Given the description of an element on the screen output the (x, y) to click on. 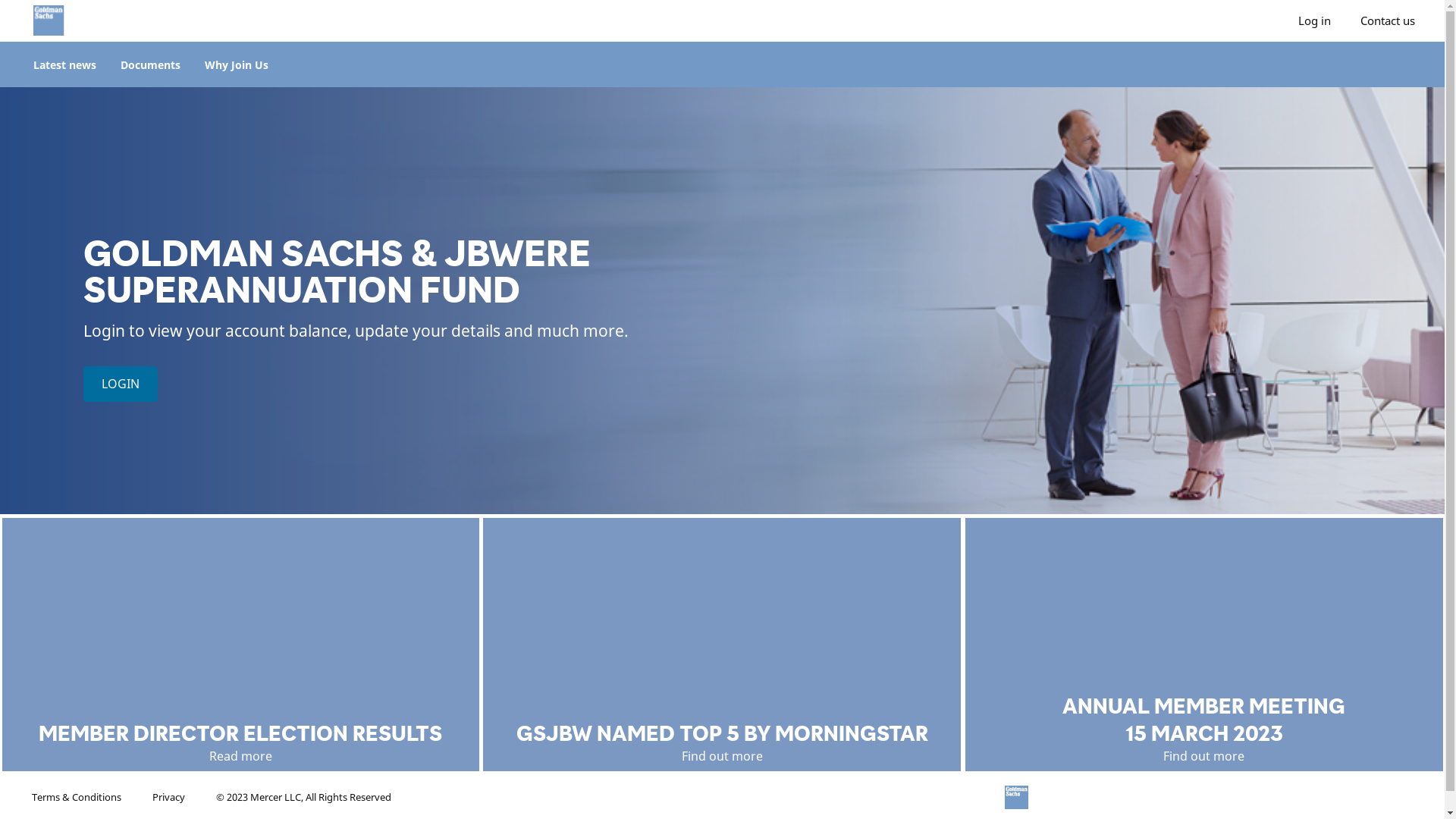
Why Join Us Element type: text (236, 64)
LOGIN Element type: text (120, 383)
Log in Element type: text (1314, 20)
Privacy Element type: text (168, 796)
GSJBW Element type: hover (1099, 797)
Documents Element type: text (150, 64)
Latest news Element type: text (64, 64)
Find out more Element type: text (722, 755)
Goldman Sachs Element type: hover (156, 20)
Read more Element type: text (240, 755)
Contact us Element type: text (1387, 20)
Terms & Conditions Element type: text (76, 796)
Find out more Element type: text (1203, 755)
